Given the description of an element on the screen output the (x, y) to click on. 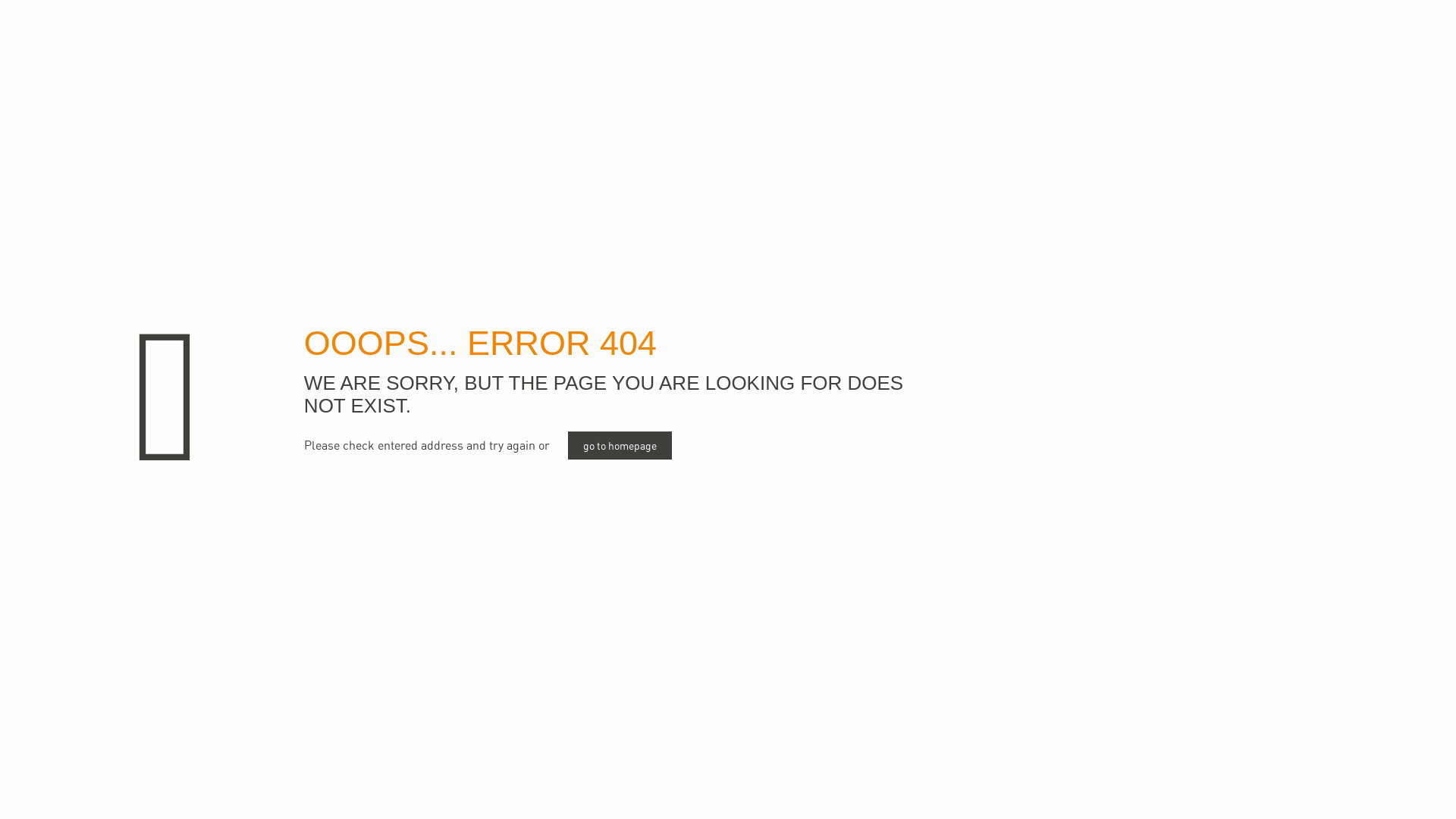
go to homepage Element type: text (619, 445)
